Given the description of an element on the screen output the (x, y) to click on. 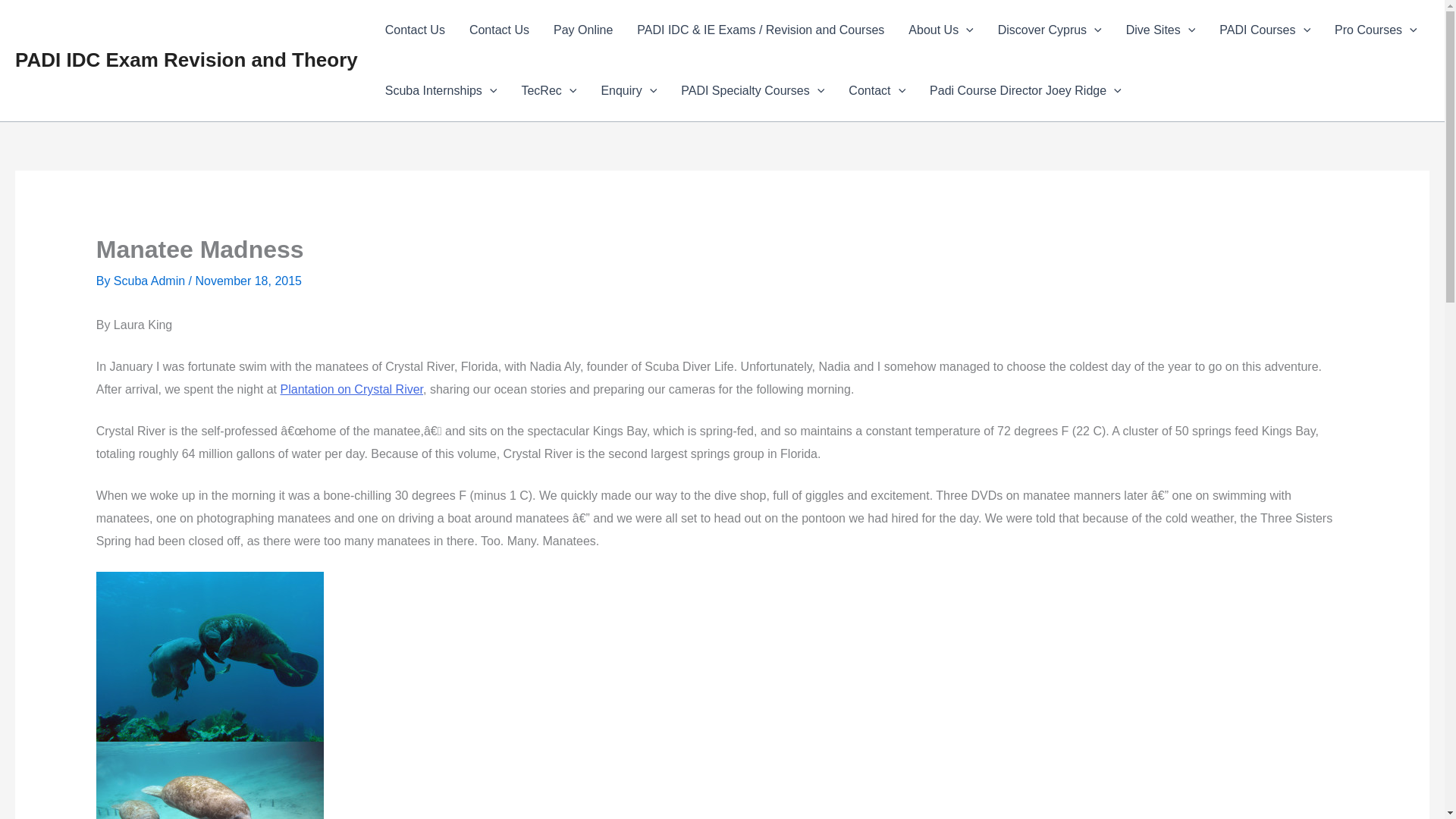
PADI IDC Exam Revision and Theory (186, 59)
PADI Courses (1264, 30)
Dive Sites (1160, 30)
Contact Us (414, 30)
About Us (940, 30)
Discover Cyprus (1049, 30)
View all posts by Scuba Admin (151, 280)
Pay Online (582, 30)
Contact Us (499, 30)
